Given the description of an element on the screen output the (x, y) to click on. 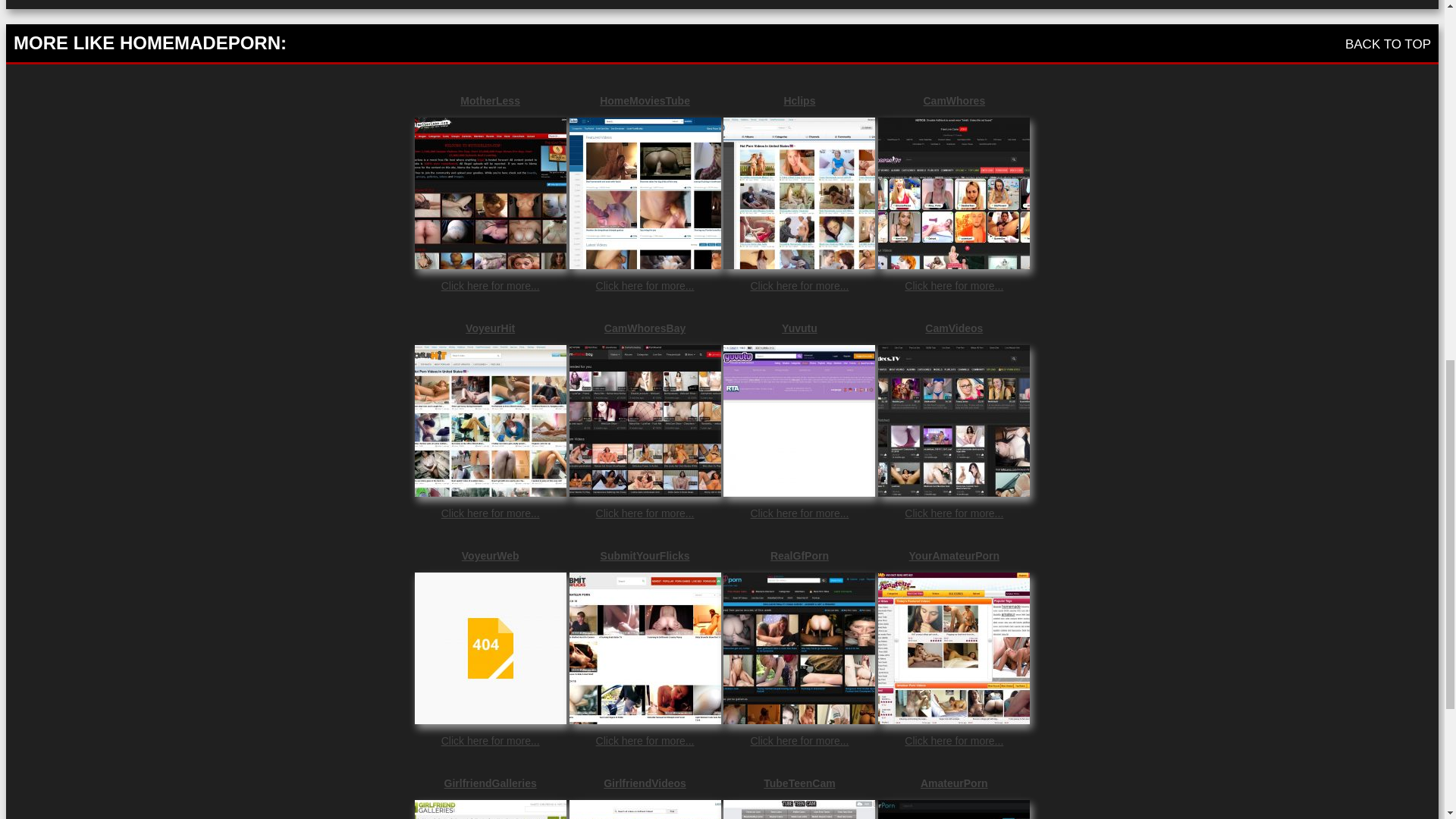
Click here for more... (490, 512)
VoyeurWeb (490, 555)
Click here for more... (798, 512)
Click here for more... (798, 285)
Click here for more... (953, 285)
VoyeurHit (490, 328)
Hclips (799, 101)
CamWhores (953, 101)
BACK TO TOP (1388, 43)
Click here for more... (490, 740)
YourAmateurPorn (953, 555)
CamWhoresBay (644, 328)
MotherLess (490, 101)
RealGfPorn (799, 555)
Click here for more... (644, 512)
